Given the description of an element on the screen output the (x, y) to click on. 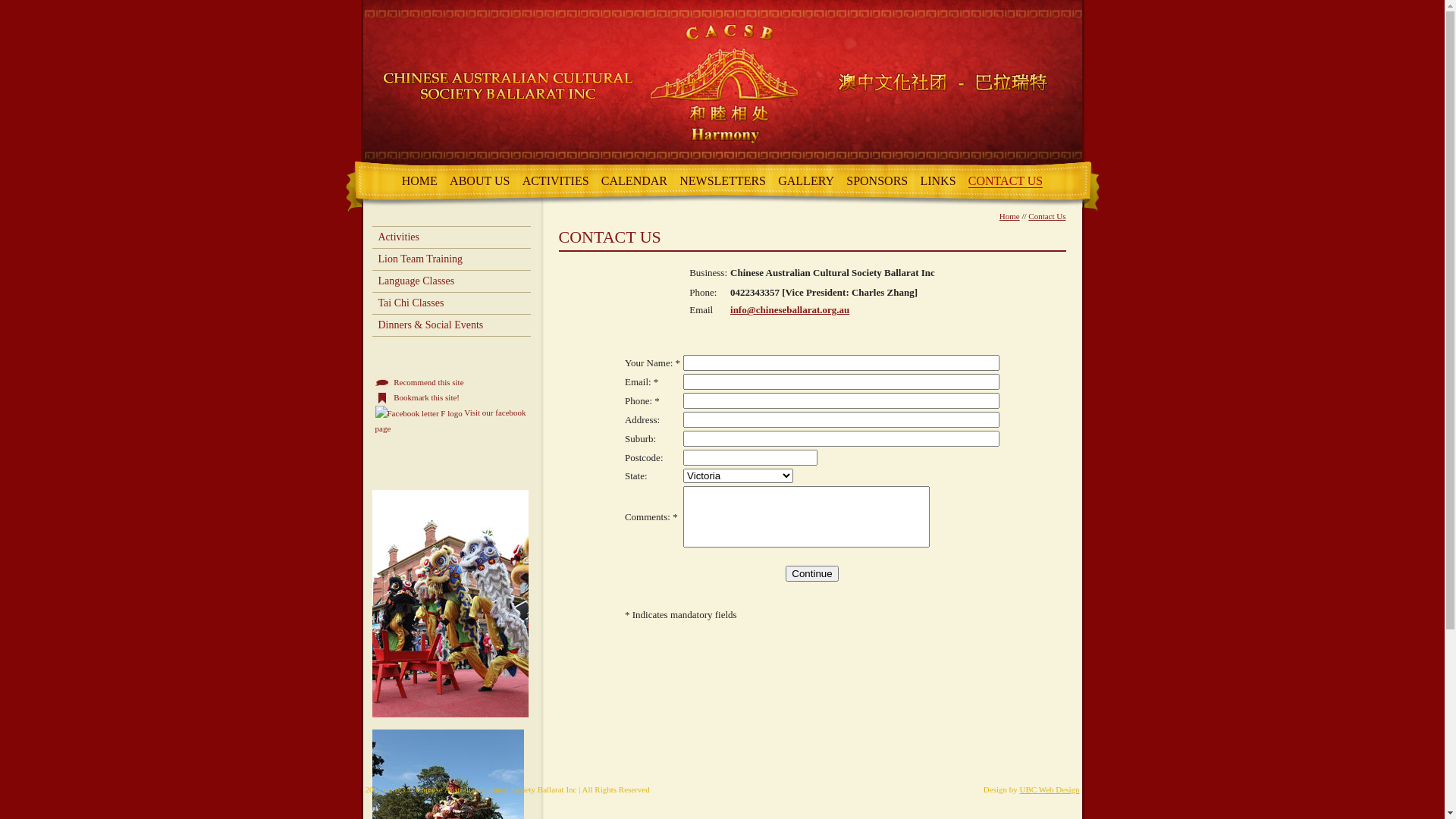
HOME Element type: text (419, 180)
Please enter 10 digit phone number Element type: hover (841, 400)
Dinners & Social Events Element type: text (450, 324)
ABOUT US Element type: text (479, 180)
Contact Us Element type: text (1046, 215)
Recommend this site Element type: text (418, 381)
Bookmark this site! Element type: text (416, 396)
NEWSLETTERS Element type: text (722, 180)
LINKS Element type: text (937, 180)
Visit our facebook page Element type: hover (417, 412)
UBC Web Design Element type: text (1049, 788)
SPONSORS Element type: text (876, 180)
Home Element type: text (1009, 215)
CONTACT US Element type: text (1005, 181)
GALLERY Element type: text (806, 180)
Activities Element type: text (450, 236)
Lion Team Training Element type: text (450, 258)
Tai Chi Classes Element type: text (450, 302)
Continue Element type: text (811, 573)
Language Classes Element type: text (450, 280)
ACTIVITIES Element type: text (555, 180)
CALENDAR Element type: text (634, 180)
Visit our facebook page Element type: text (449, 420)
info@chineseballarat.org.au Element type: text (789, 309)
Enter Your Name Element type: hover (841, 362)
